Given the description of an element on the screen output the (x, y) to click on. 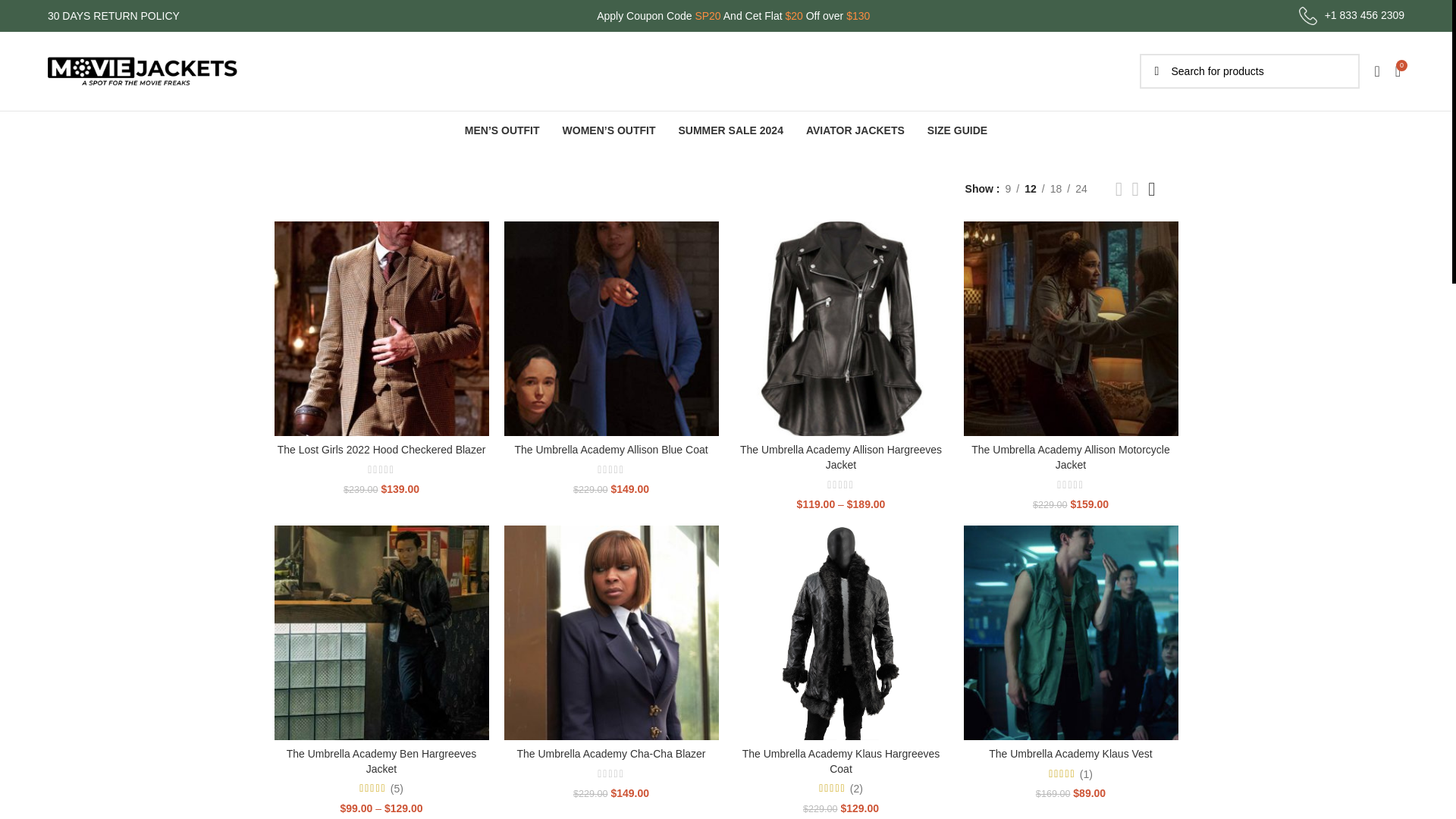
Log in (1254, 312)
The Lost Girls 2022 Hood Checkered Blazer (382, 449)
SUMMER SALE 2024 (730, 130)
AVIATOR JACKETS (855, 130)
24 (1081, 188)
The Umbrella Academy Allison Blue Coat (610, 449)
12 (1030, 188)
18 (1056, 188)
The Umbrella Academy Allison Hargreeves Jacket (840, 456)
Search for products (1248, 71)
9 (1007, 188)
SIZE GUIDE (957, 130)
SEARCH (1155, 71)
